Given the description of an element on the screen output the (x, y) to click on. 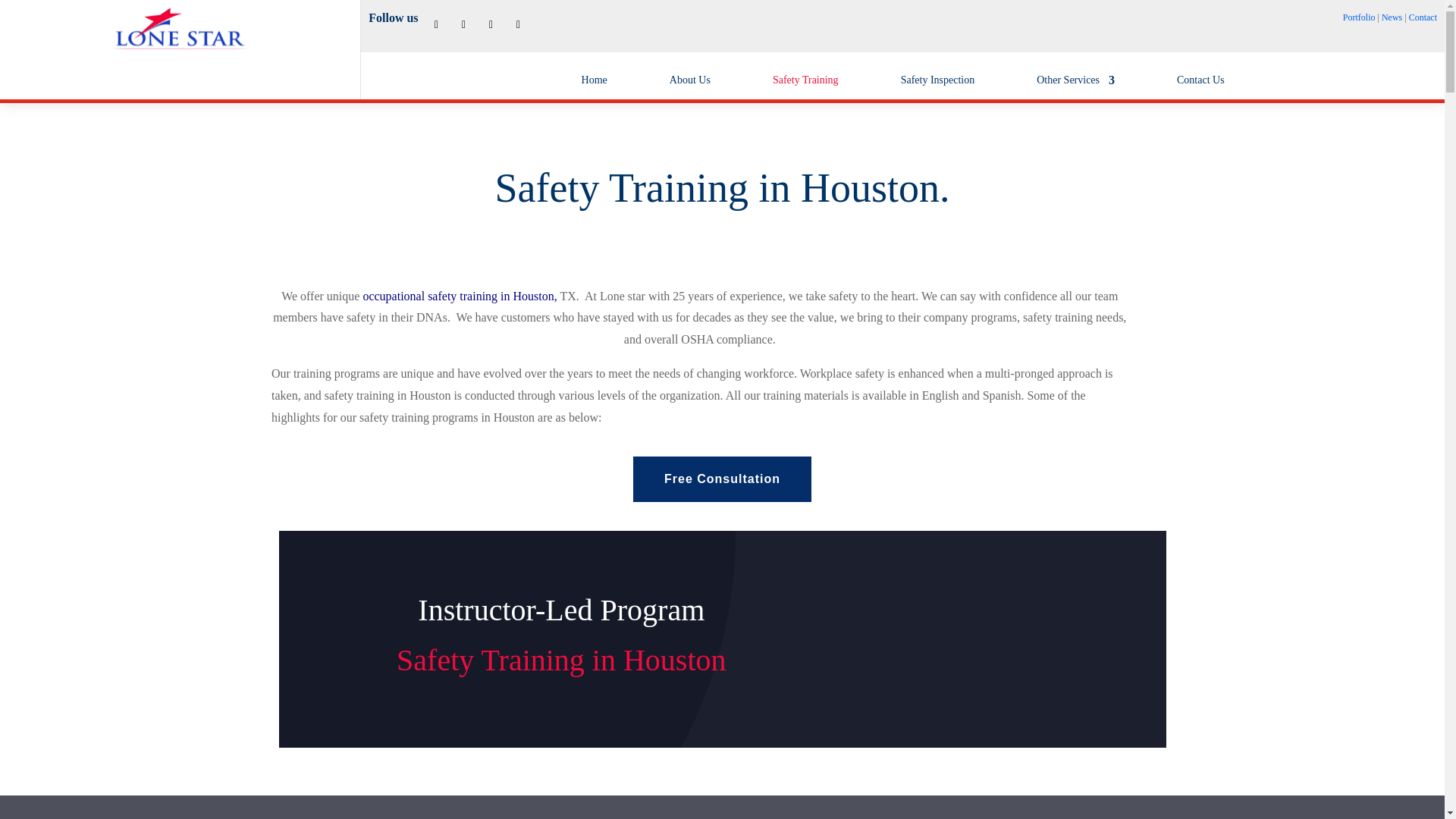
Follow on LinkedIn (491, 25)
Follow on X (436, 25)
Free Consultation (721, 478)
Contact Us (1200, 75)
Follow on Pinterest (463, 25)
Follow on Youtube (518, 25)
Portfolio (1358, 17)
Safety Inspection (938, 75)
Safety Training (805, 75)
News (1391, 17)
